Given the description of an element on the screen output the (x, y) to click on. 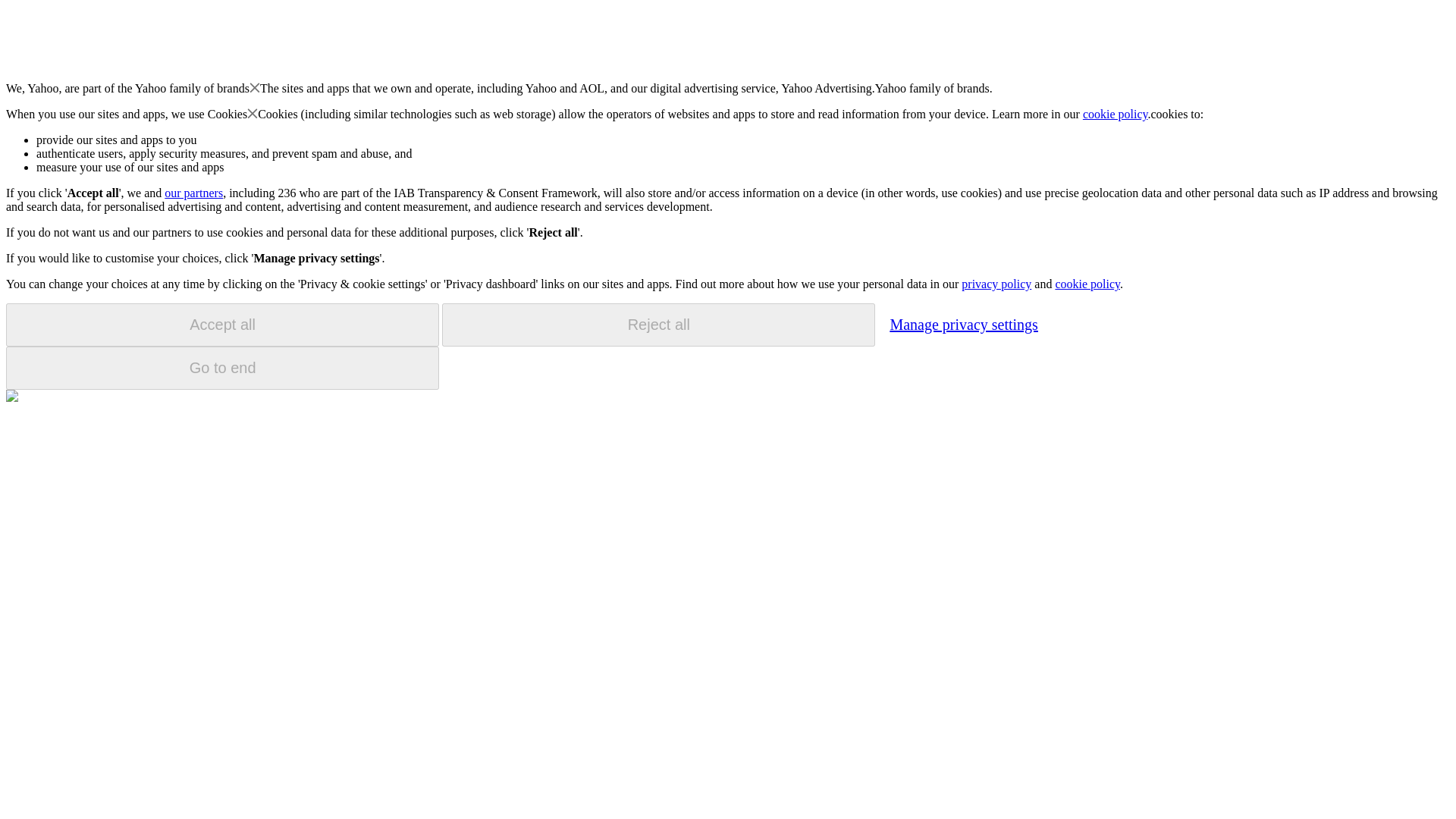
cookie policy (1115, 113)
privacy policy (995, 283)
Accept all (222, 324)
Reject all (658, 324)
Manage privacy settings (963, 323)
Go to end (222, 367)
cookie policy (1086, 283)
our partners (193, 192)
